Given the description of an element on the screen output the (x, y) to click on. 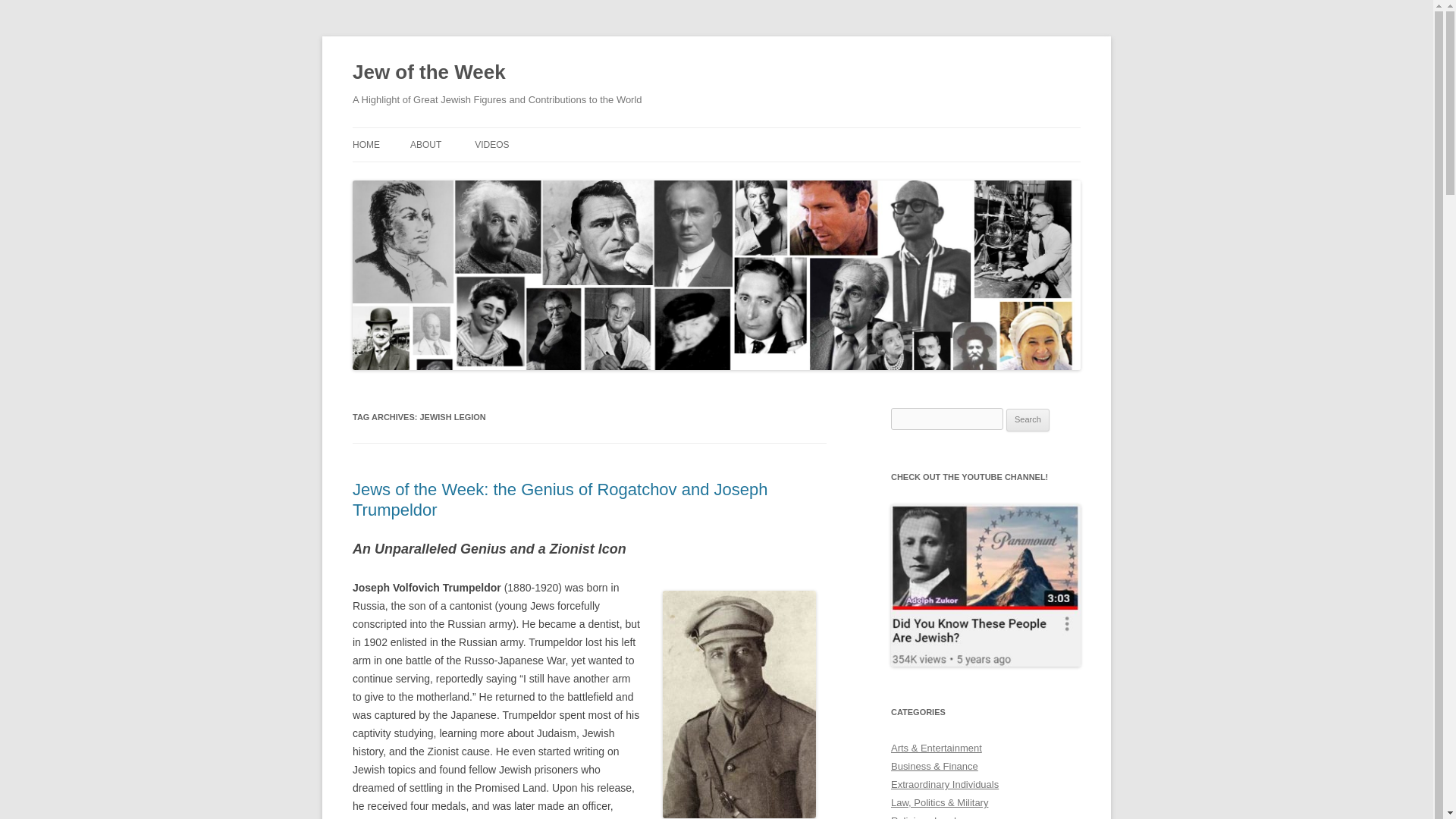
VIDEOS (491, 144)
Jew of the Week (428, 72)
Jew of the Week (428, 72)
Search (1027, 419)
ABOUT (425, 144)
